Given the description of an element on the screen output the (x, y) to click on. 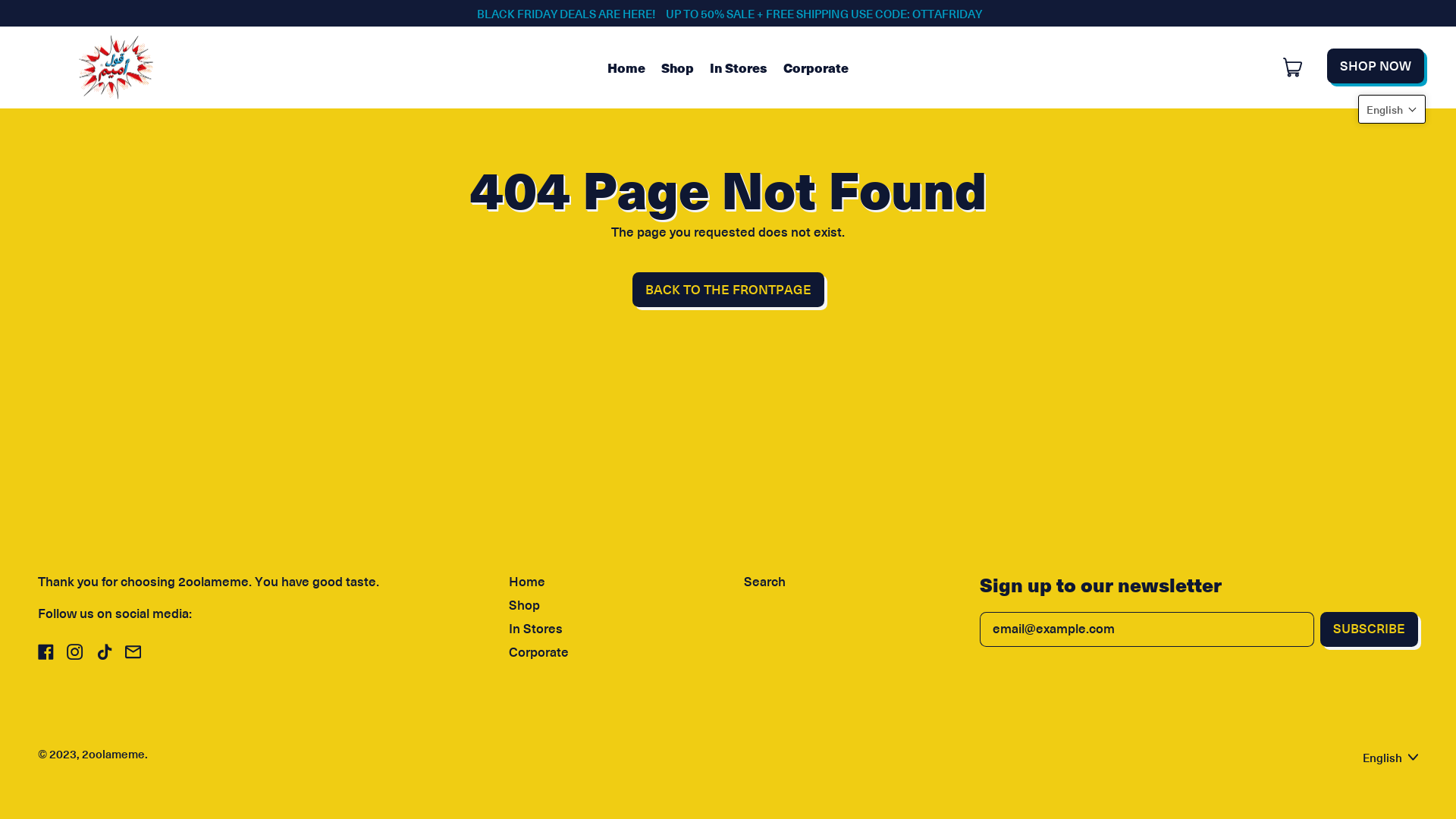
SHOP NOW Element type: text (1375, 65)
Facebook Element type: text (45, 655)
Home Element type: text (526, 581)
Shop Element type: text (676, 66)
2oolameme Element type: text (112, 753)
In Stores Element type: text (535, 628)
In Stores Element type: text (738, 66)
SUBSCRIBE Element type: text (1369, 628)
Corporate Element type: text (815, 66)
Corporate Element type: text (538, 652)
BACK TO THE FRONTPAGE Element type: text (728, 289)
Email Element type: text (133, 655)
Home Element type: text (625, 66)
Search Element type: text (764, 581)
TikTok Element type: text (103, 655)
Shop Element type: text (523, 605)
English Element type: text (1390, 756)
Instagram Element type: text (74, 655)
Cart
items Element type: text (1293, 67)
